Given the description of an element on the screen output the (x, y) to click on. 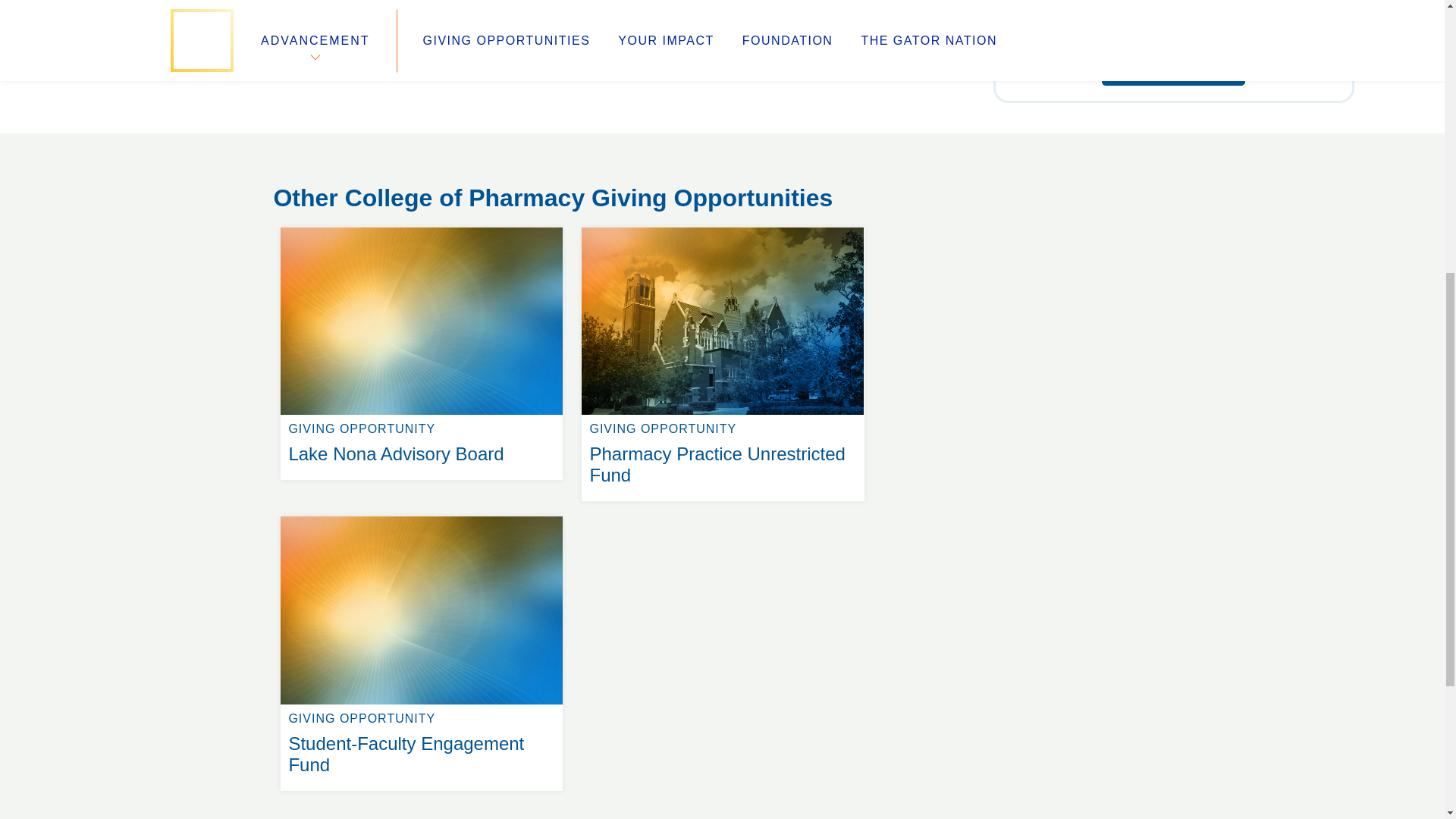
Advancement Toolkit (565, 166)
Advancement HUB (560, 148)
Join Our Team (317, 148)
Foundation Board (327, 184)
Privacy Policy (545, 184)
Staff Directory (721, 227)
Contact Us (316, 166)
Complete My Gift (306, 202)
Disclosures (1173, 69)
University of Florida (537, 202)
